Given the description of an element on the screen output the (x, y) to click on. 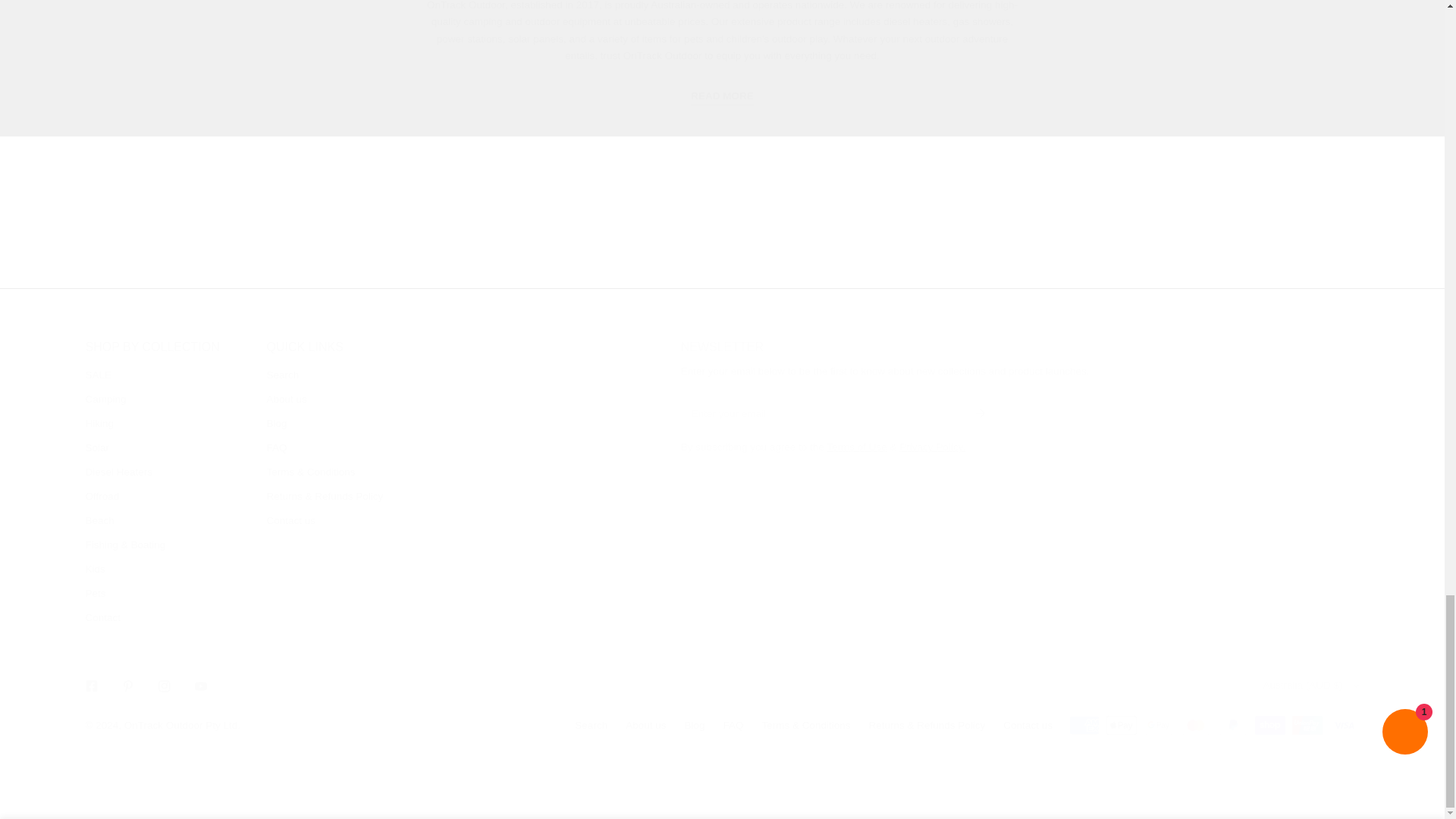
READ MORE (722, 95)
Pinterest (127, 686)
YouTube (200, 686)
Facebook (90, 686)
Instagram (163, 686)
